Given the description of an element on the screen output the (x, y) to click on. 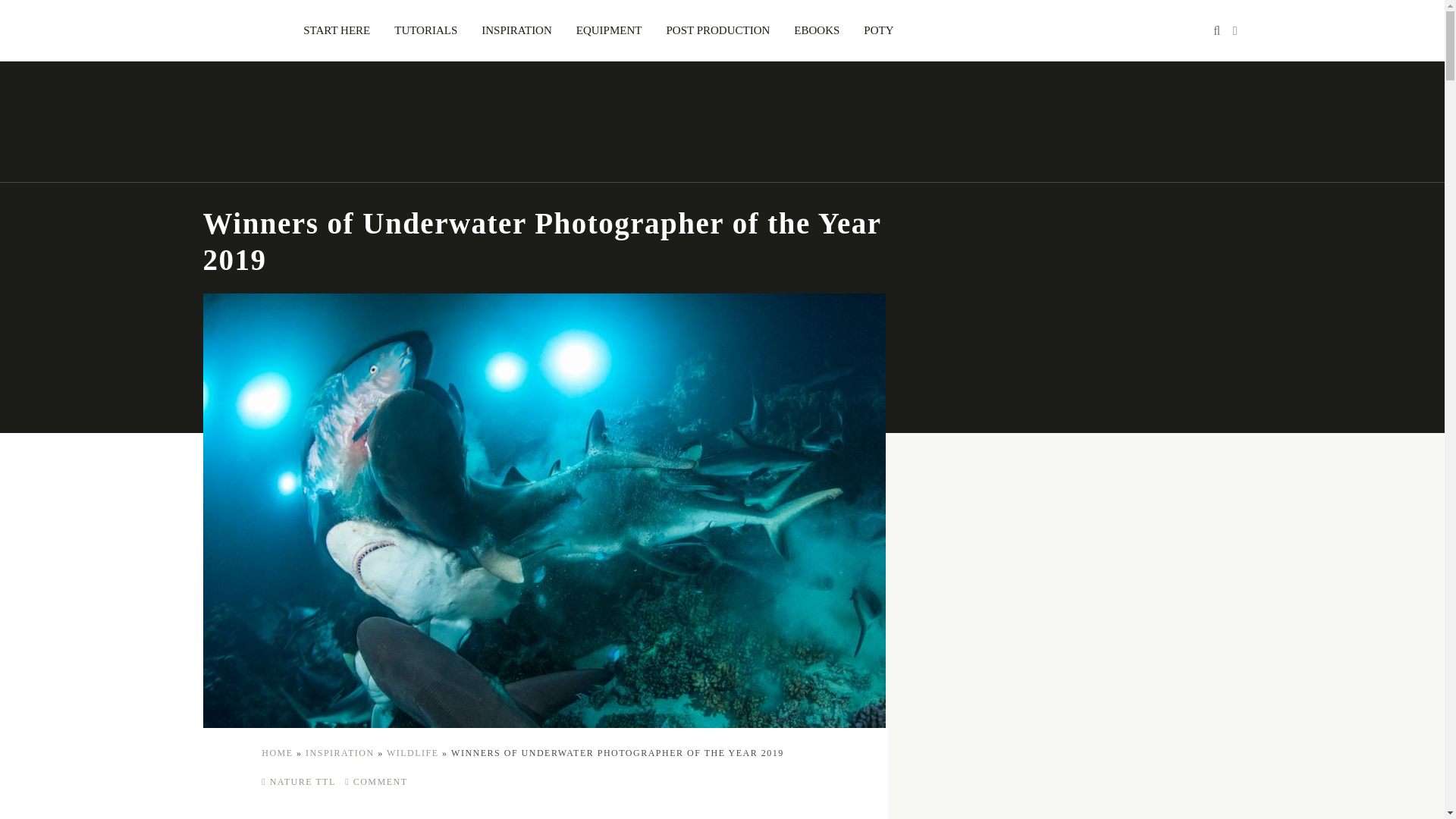
START HERE (336, 30)
TUTORIALS (424, 30)
